Given the description of an element on the screen output the (x, y) to click on. 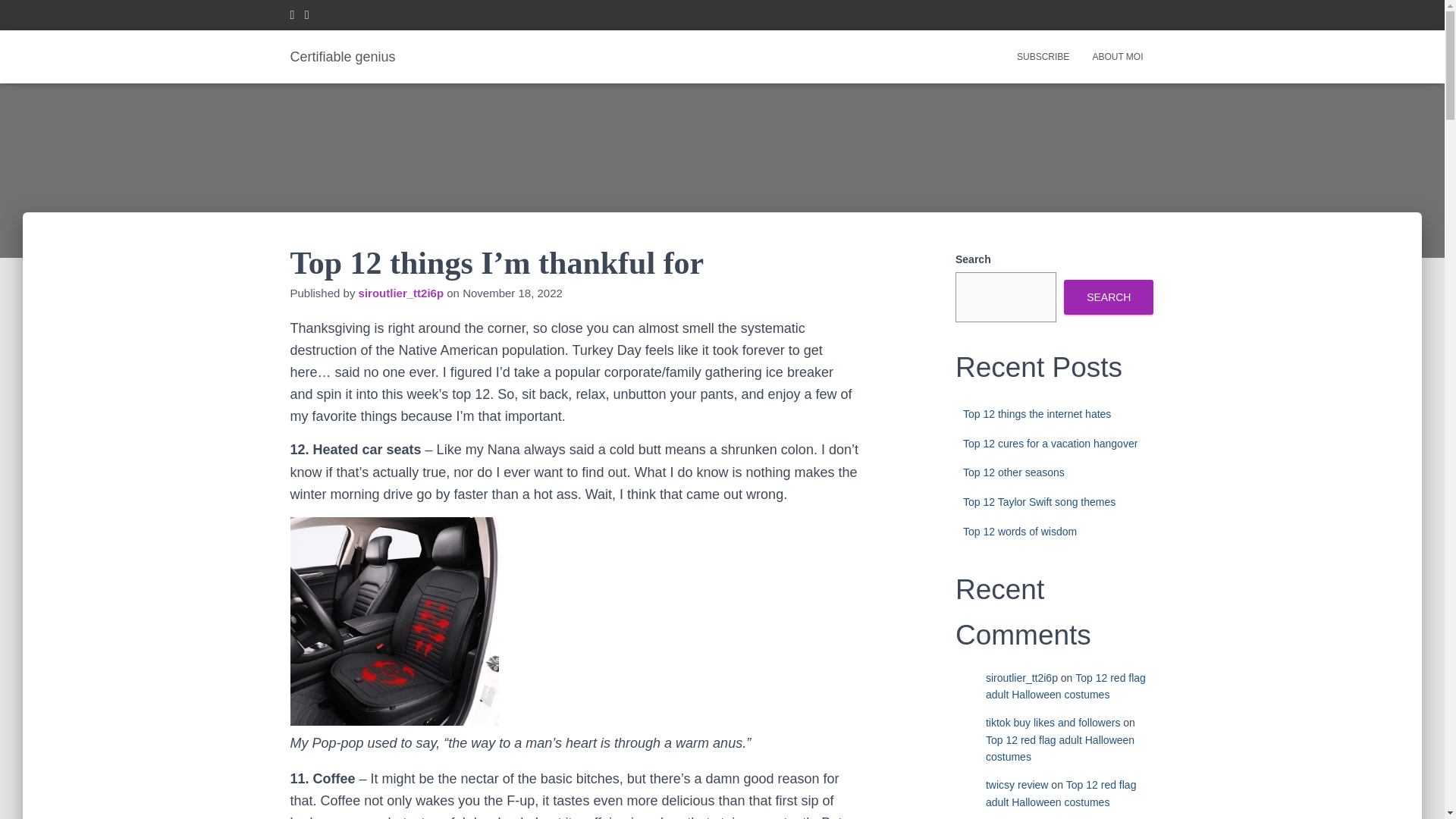
Top 12 Taylor Swift song themes (1038, 501)
Top 12 cures for a vacation hangover (1049, 443)
About moi (1117, 56)
Top 12 red flag adult Halloween costumes (1060, 793)
Top 12 other seasons (1013, 472)
Top 12 things the internet hates (1036, 413)
Top 12 red flag adult Halloween costumes (1065, 686)
tiktok buy likes and followers (1052, 722)
SUBSCRIBE (1043, 56)
SEARCH (1108, 297)
